Given the description of an element on the screen output the (x, y) to click on. 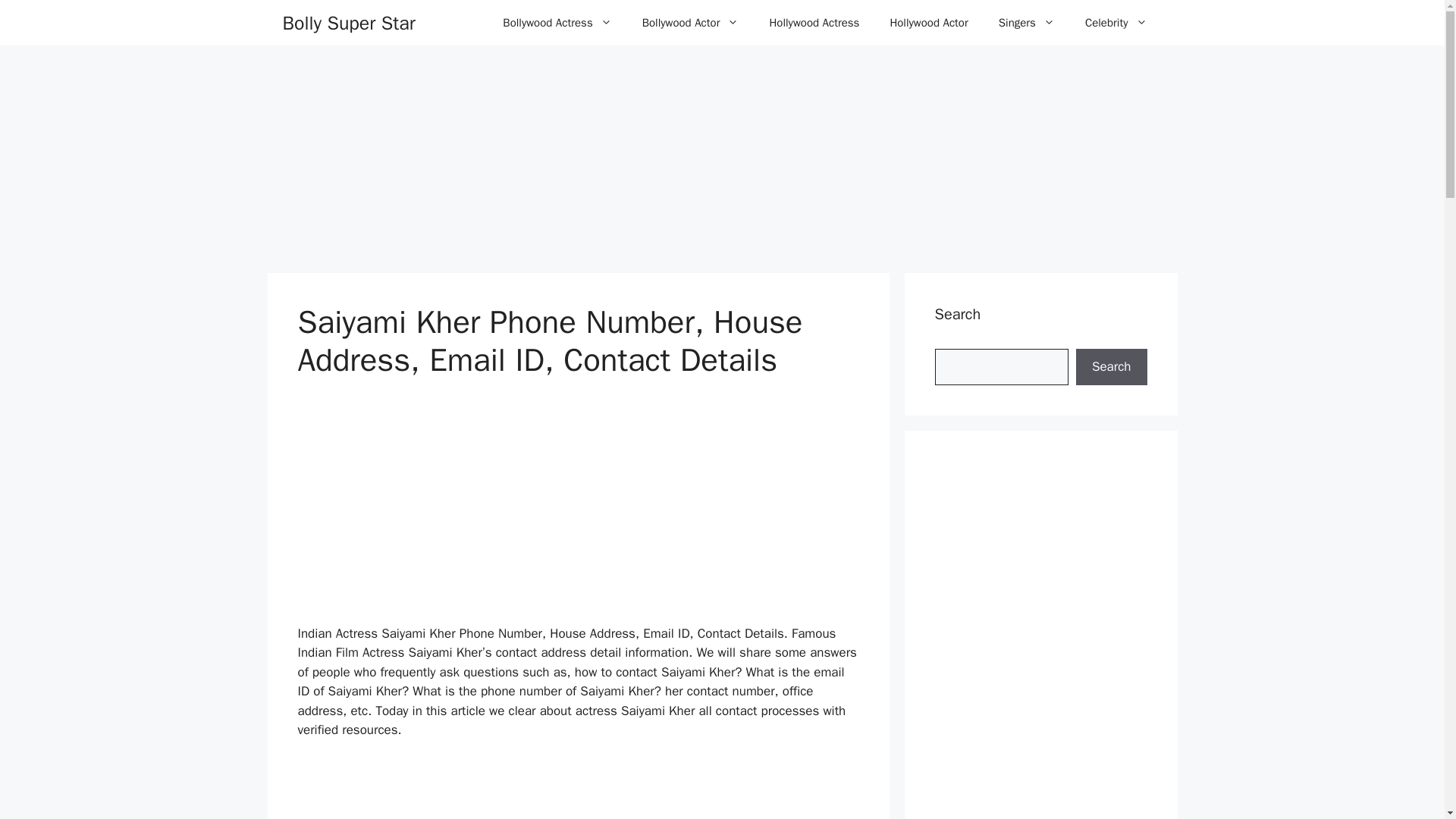
Hollywood Actress (814, 22)
Bollywood Actor (690, 22)
Bolly Super Star (348, 22)
Bollywood Actress (556, 22)
Singers (1027, 22)
Hollywood Actor (928, 22)
Celebrity (1115, 22)
